Given the description of an element on the screen output the (x, y) to click on. 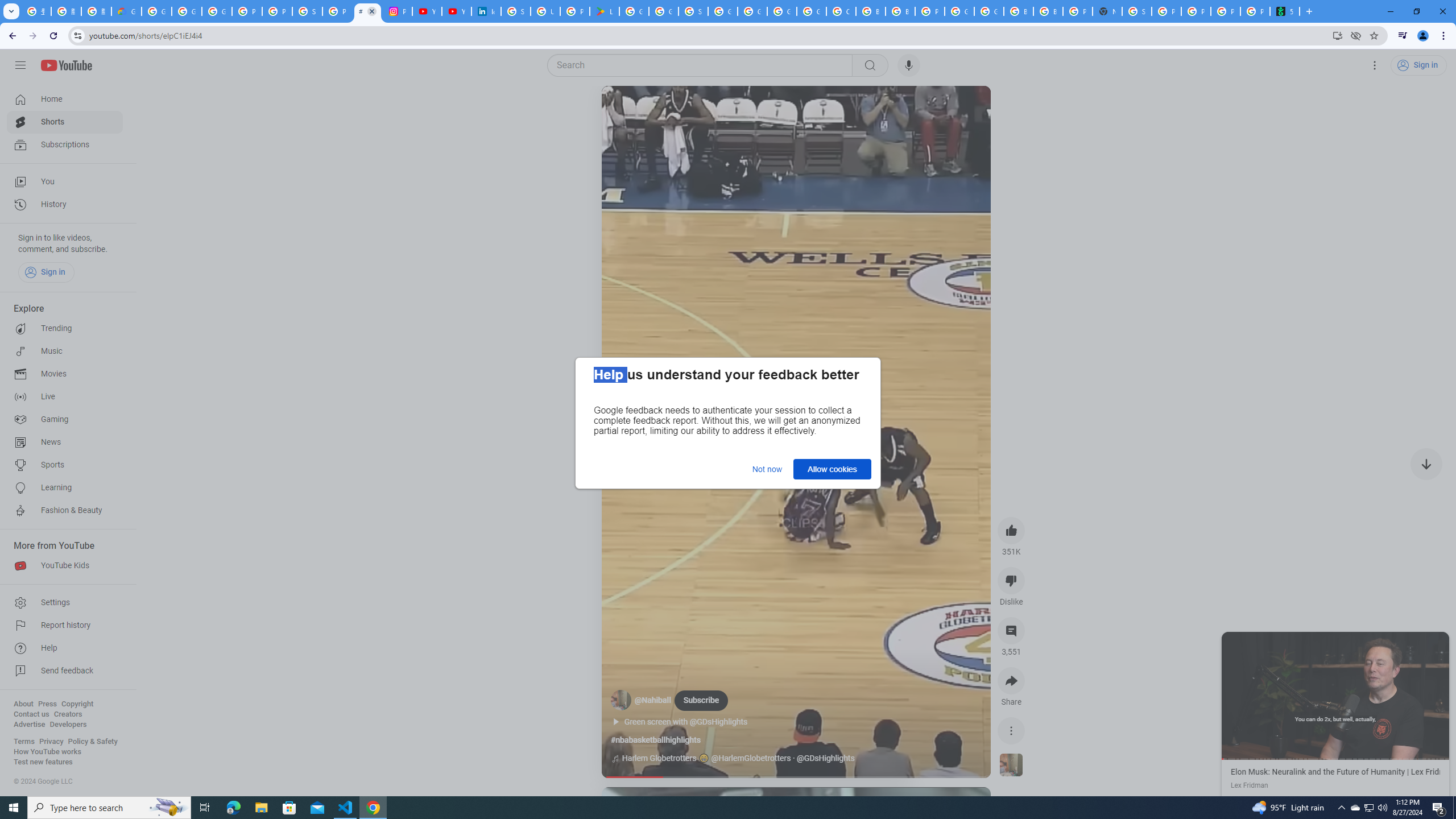
History (64, 204)
Guide (20, 65)
Press (46, 703)
Not now (766, 468)
Pause (k) (1334, 694)
YouTube Home (66, 65)
Seek slider (796, 776)
More actions (1011, 730)
See more videos using this sound (1011, 765)
